Given the description of an element on the screen output the (x, y) to click on. 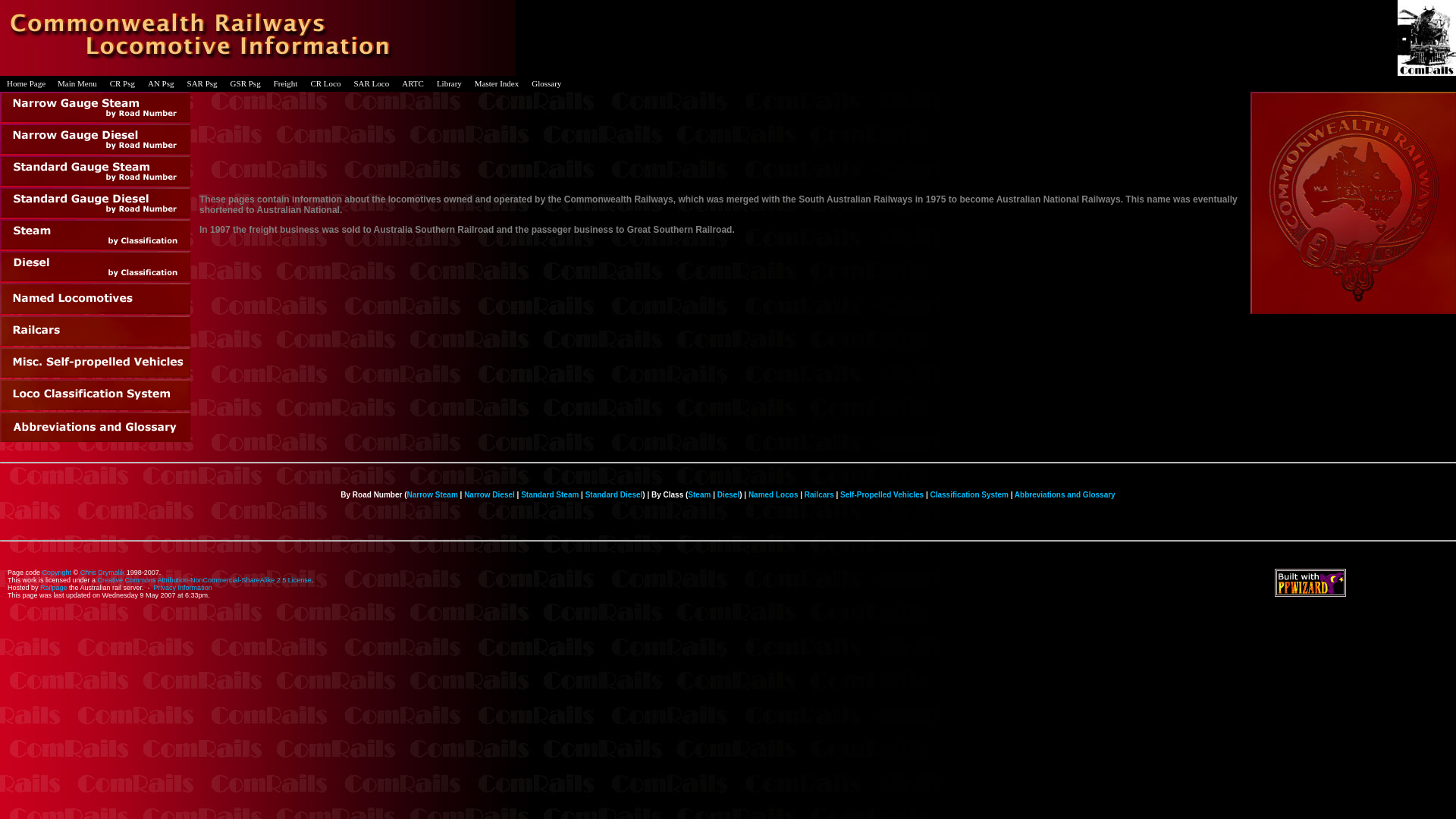
Freight Element type: text (285, 83)
GSR Psg Element type: text (245, 83)
Diesel Element type: text (728, 494)
Home Page Element type: text (25, 83)
Main Menu Element type: text (77, 83)
AN Psg Element type: text (161, 83)
Library Element type: text (449, 83)
Glossary Element type: text (546, 83)
ARTC Element type: text (412, 83)
Chris Drymalik Element type: text (102, 572)
Standard Steam Element type: text (549, 494)
Master Index Element type: text (496, 83)
SAR Loco Element type: text (371, 83)
CR Loco Element type: text (325, 83)
Abbreviations and Glossary Element type: text (1064, 494)
CR Psg Element type: text (122, 83)
Advertisement Element type: hover (823, 393)
Named Locos Element type: text (773, 494)
Narrow Diesel Element type: text (489, 494)
Classification System Element type: text (968, 494)
Advertisement Element type: hover (1400, 608)
Self-Propelled Vehicles Element type: text (881, 494)
Steam Element type: text (698, 494)
SAR Psg Element type: text (202, 83)
Privacy Information Element type: text (182, 587)
Narrow Steam Element type: text (432, 494)
Railpage Element type: text (53, 587)
Standard Diesel Element type: text (614, 494)
Copyright Element type: text (57, 572)
Railcars Element type: text (819, 494)
